Given the description of an element on the screen output the (x, y) to click on. 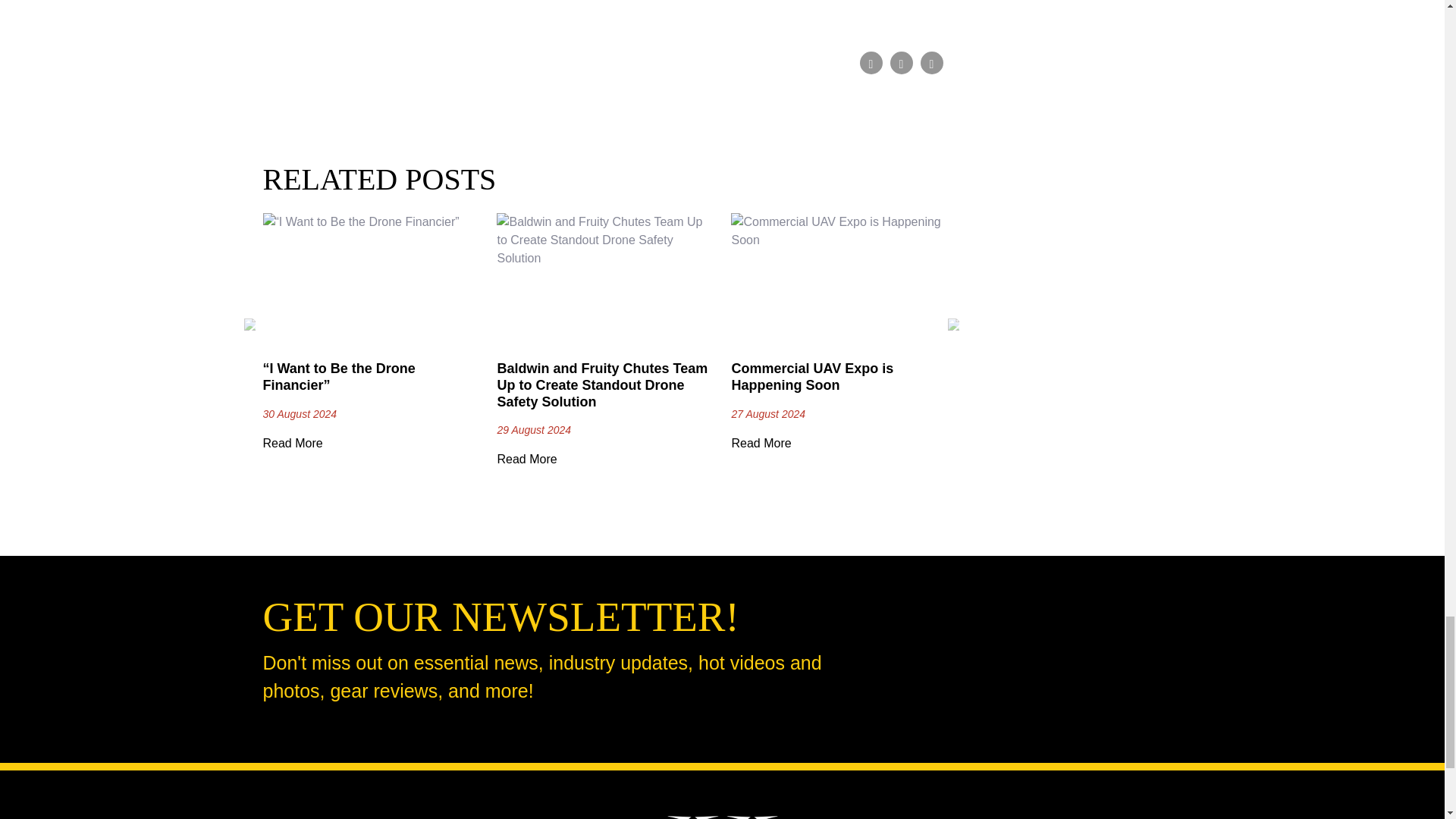
Share on Facebook (871, 62)
Read More (291, 442)
Read More (760, 442)
Share on Twitter (900, 62)
Share on Linkedin (931, 62)
Read More (526, 459)
Commercial UAV Expo is Happening Soon (811, 377)
